Given the description of an element on the screen output the (x, y) to click on. 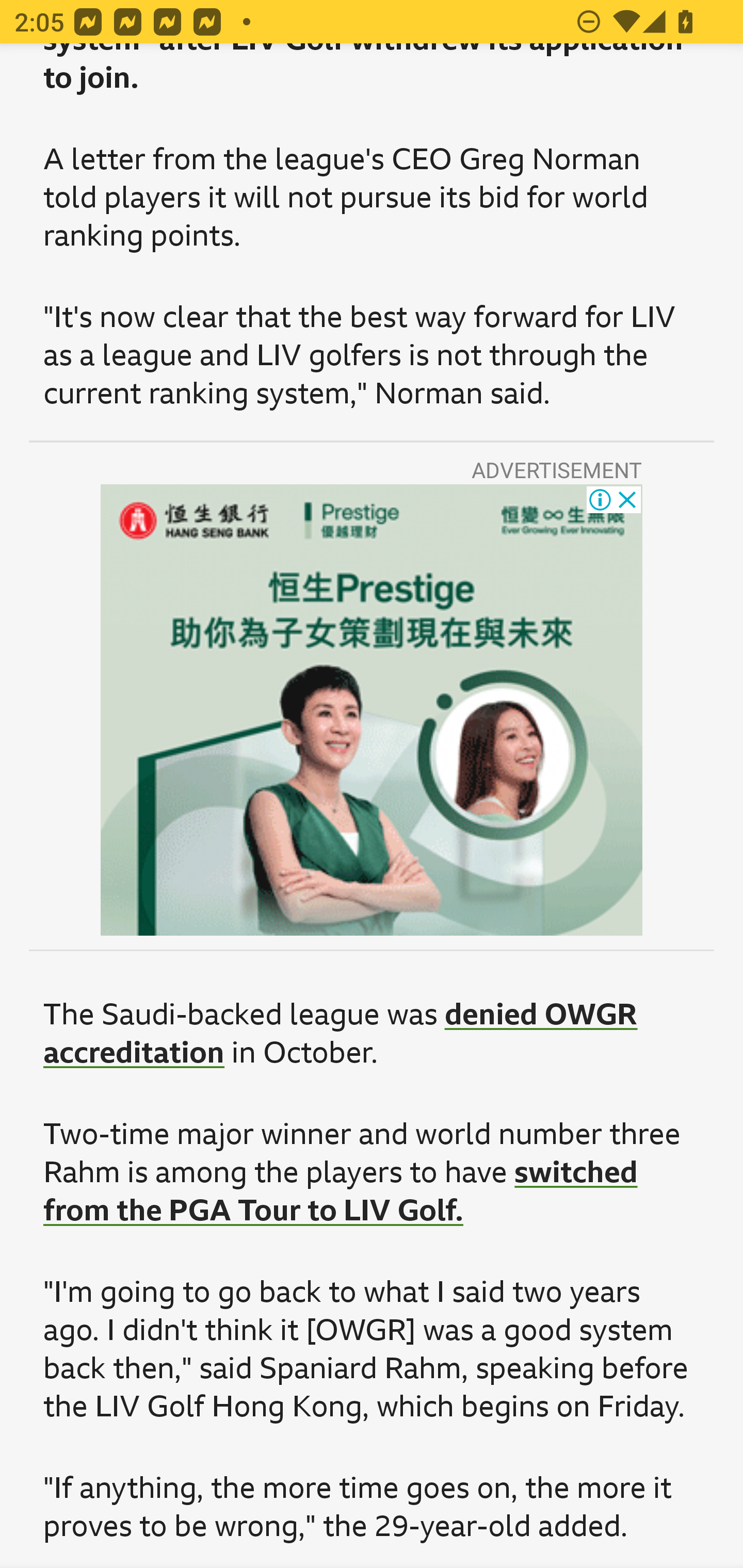
Advertisement (371, 710)
